Given the description of an element on the screen output the (x, y) to click on. 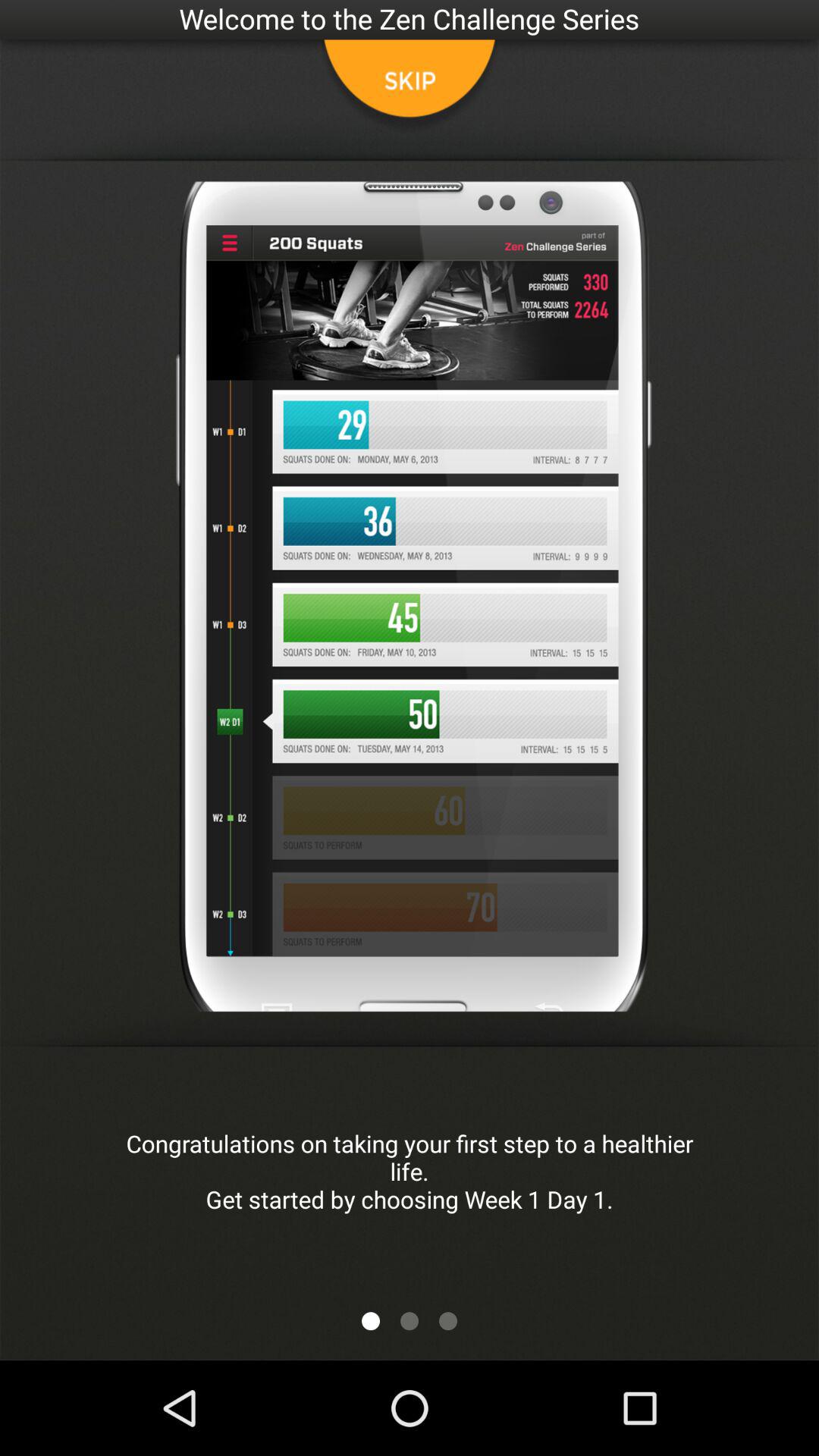
next page (409, 1321)
